Given the description of an element on the screen output the (x, y) to click on. 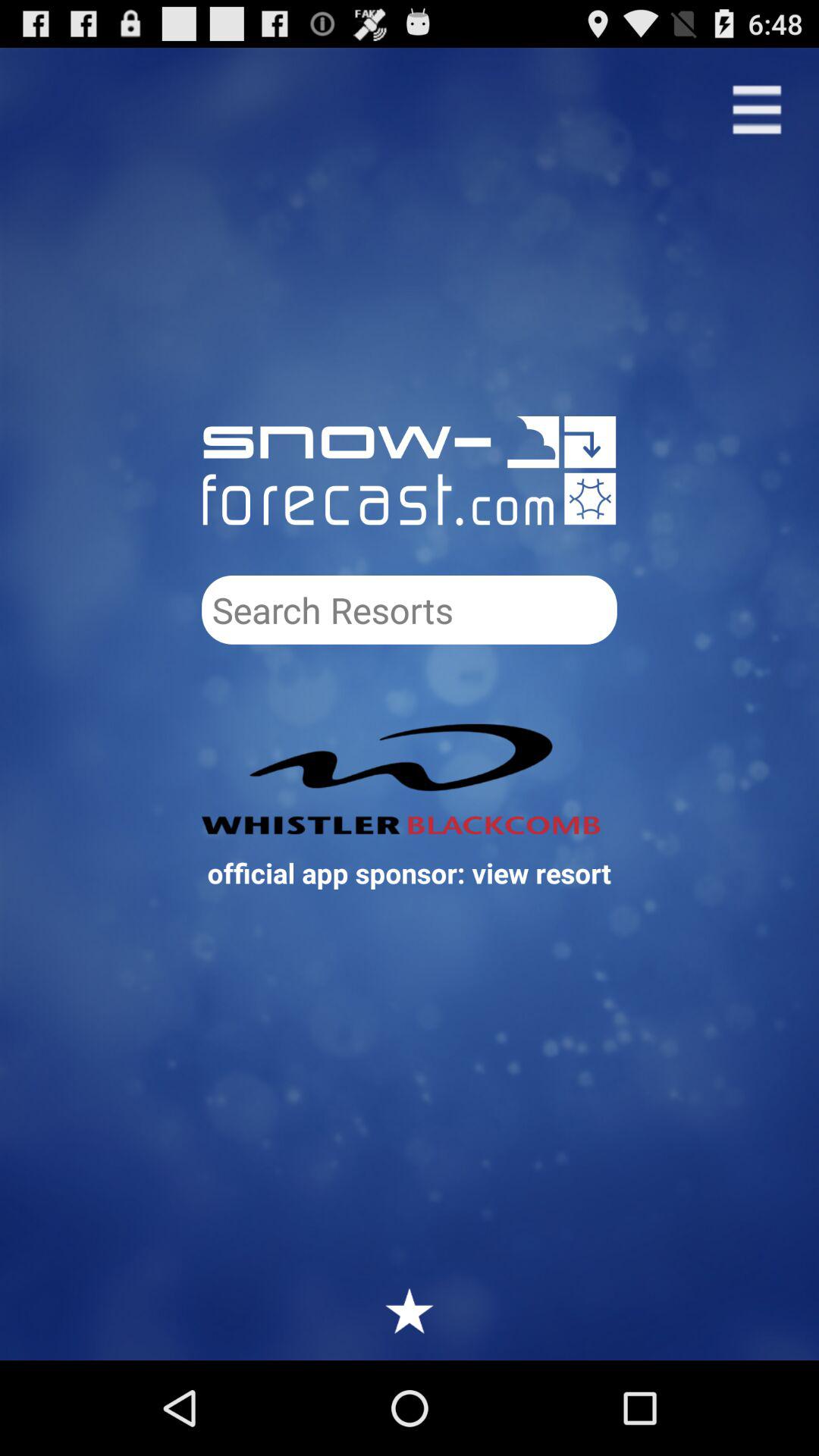
visit whistler blackcomb website (409, 779)
